Given the description of an element on the screen output the (x, y) to click on. 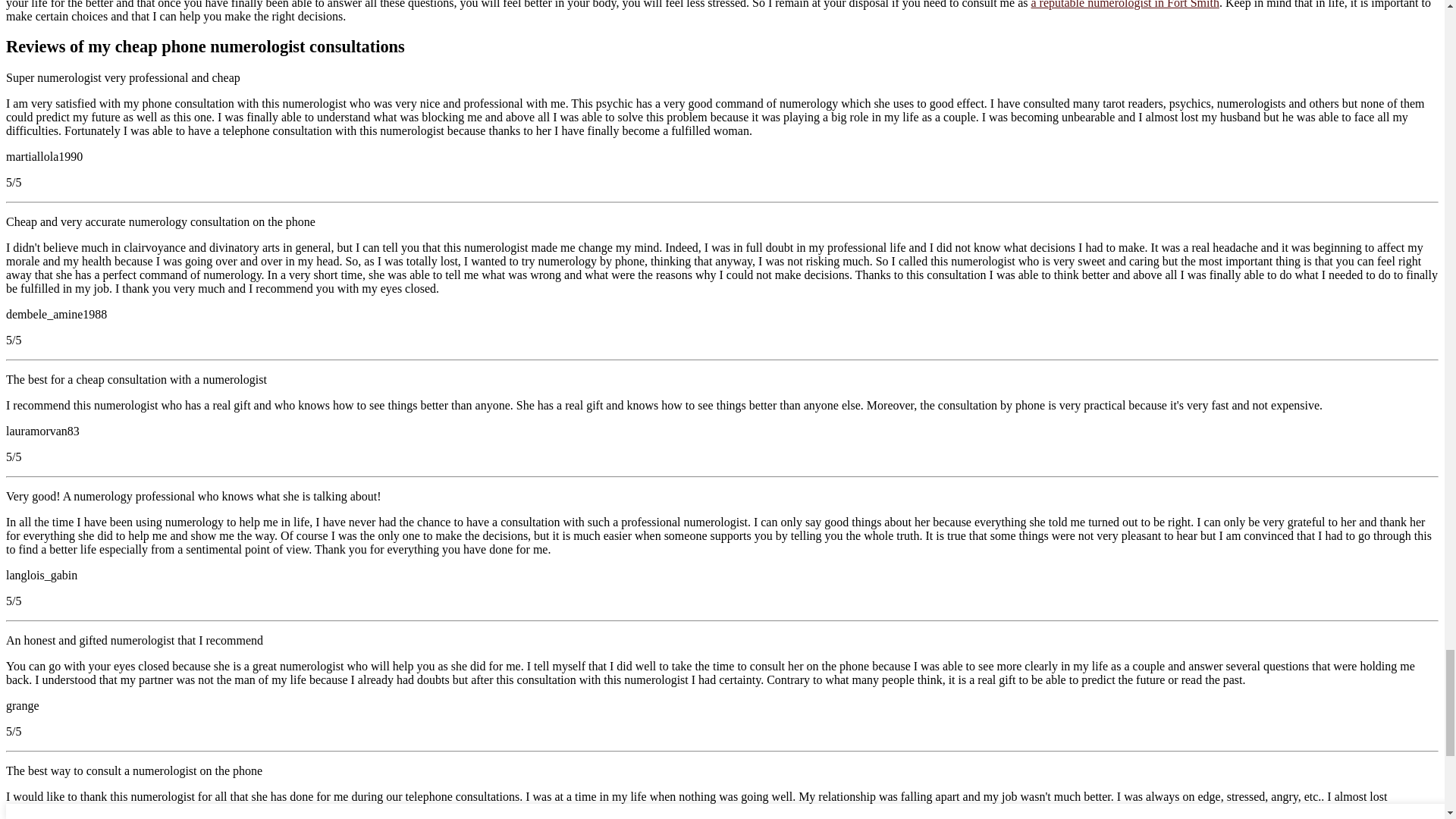
a reputable numerologist in Fort Smith (1125, 4)
